Given the description of an element on the screen output the (x, y) to click on. 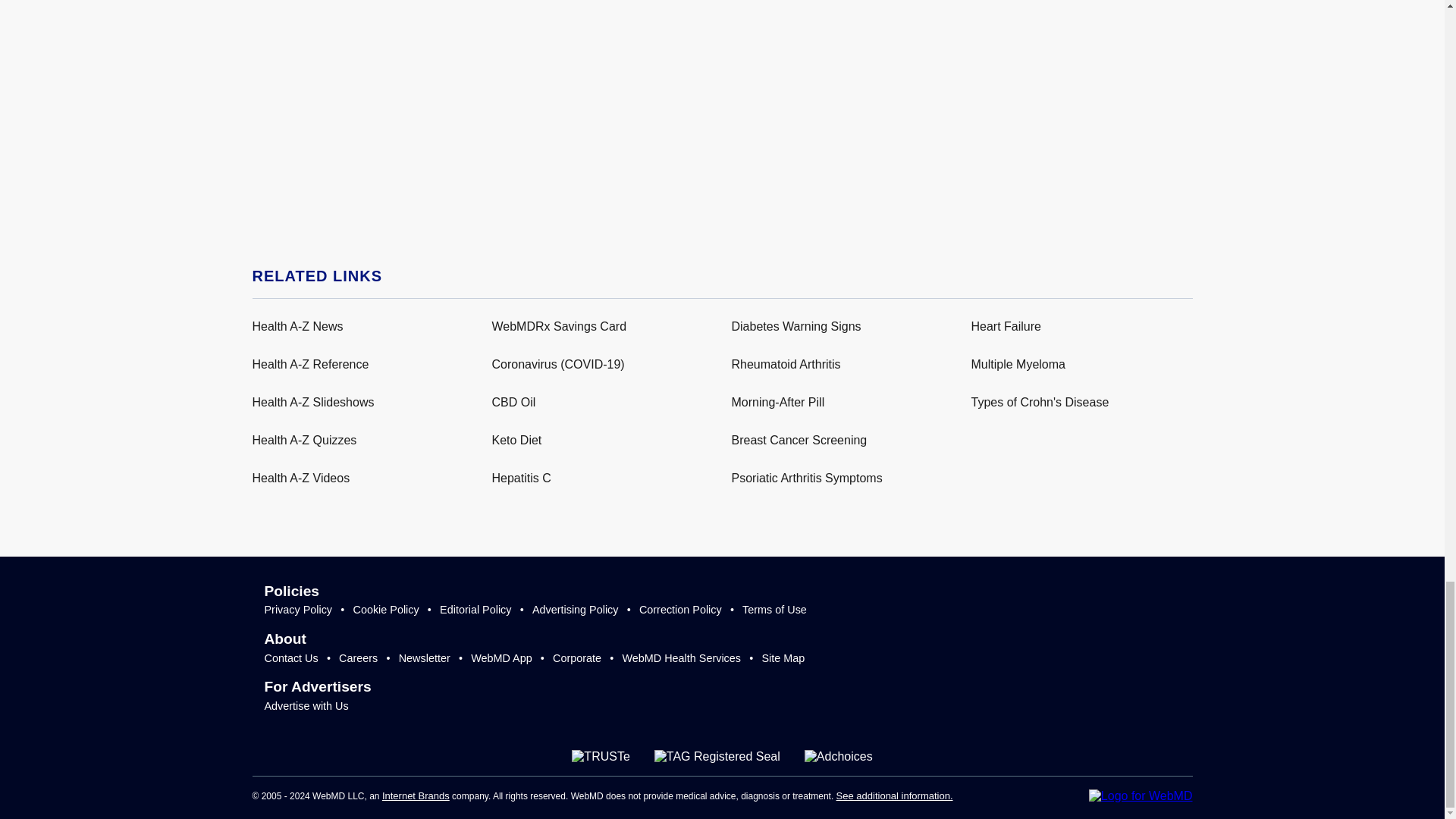
TAG Registered Seal (716, 756)
TRUSTe Privacy Certification (600, 756)
Adchoices (838, 756)
WebMD: Better information. Better health. (1140, 796)
